Given the description of an element on the screen output the (x, y) to click on. 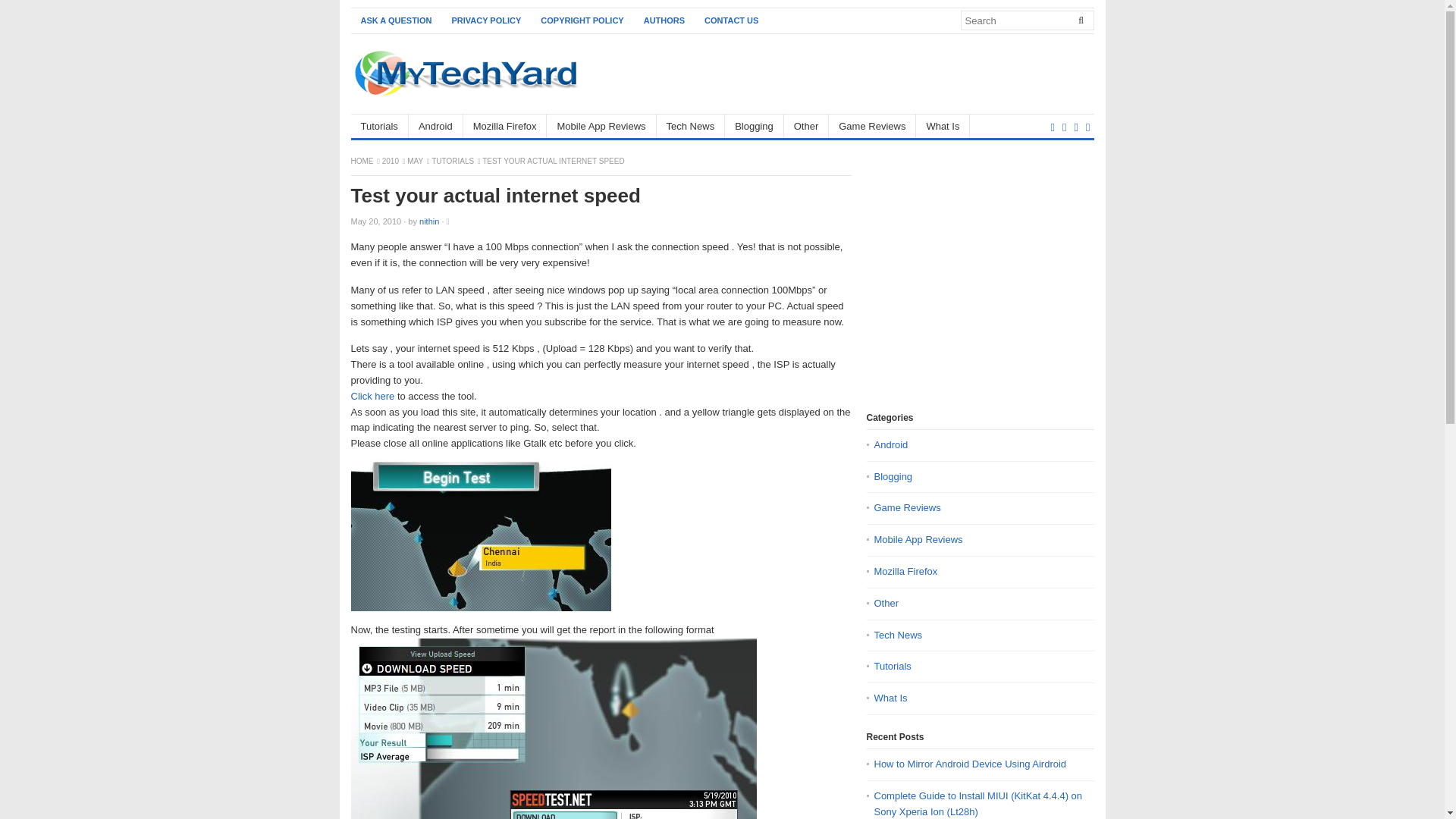
HOME (362, 161)
Blogging (754, 126)
Other (806, 126)
Mobile App Reviews (601, 126)
MAY (416, 161)
TUTORIALS (453, 161)
Speed test report (552, 728)
Tutorials (378, 126)
My Tech Yard (362, 161)
Mozilla Firefox (505, 126)
CONTACT US (731, 20)
2010 (390, 161)
PRIVACY POLICY (486, 20)
AUTHORS (663, 20)
